Given the description of an element on the screen output the (x, y) to click on. 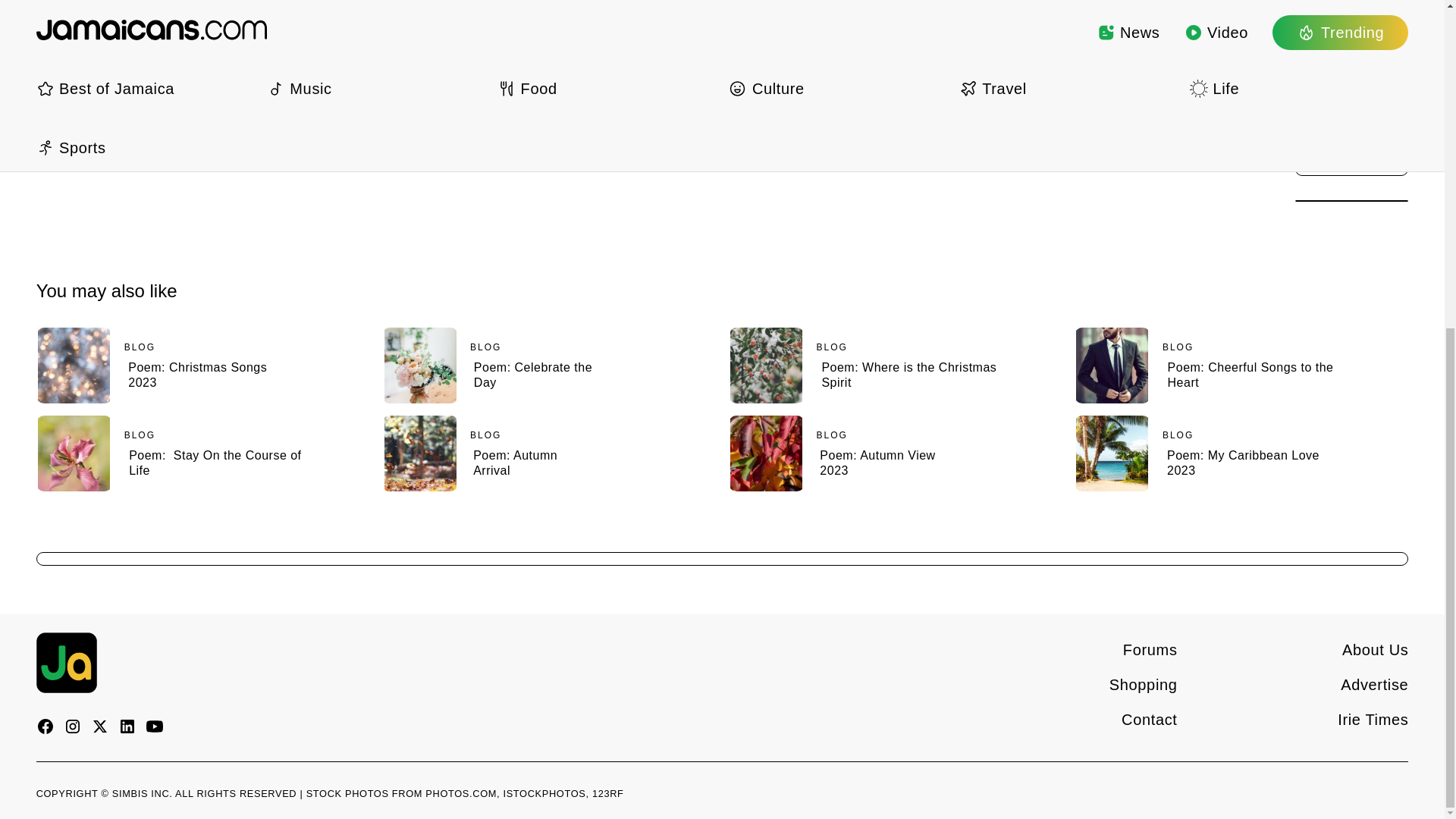
Jamaican Observer (141, 13)
Read more here (202, 365)
